Given the description of an element on the screen output the (x, y) to click on. 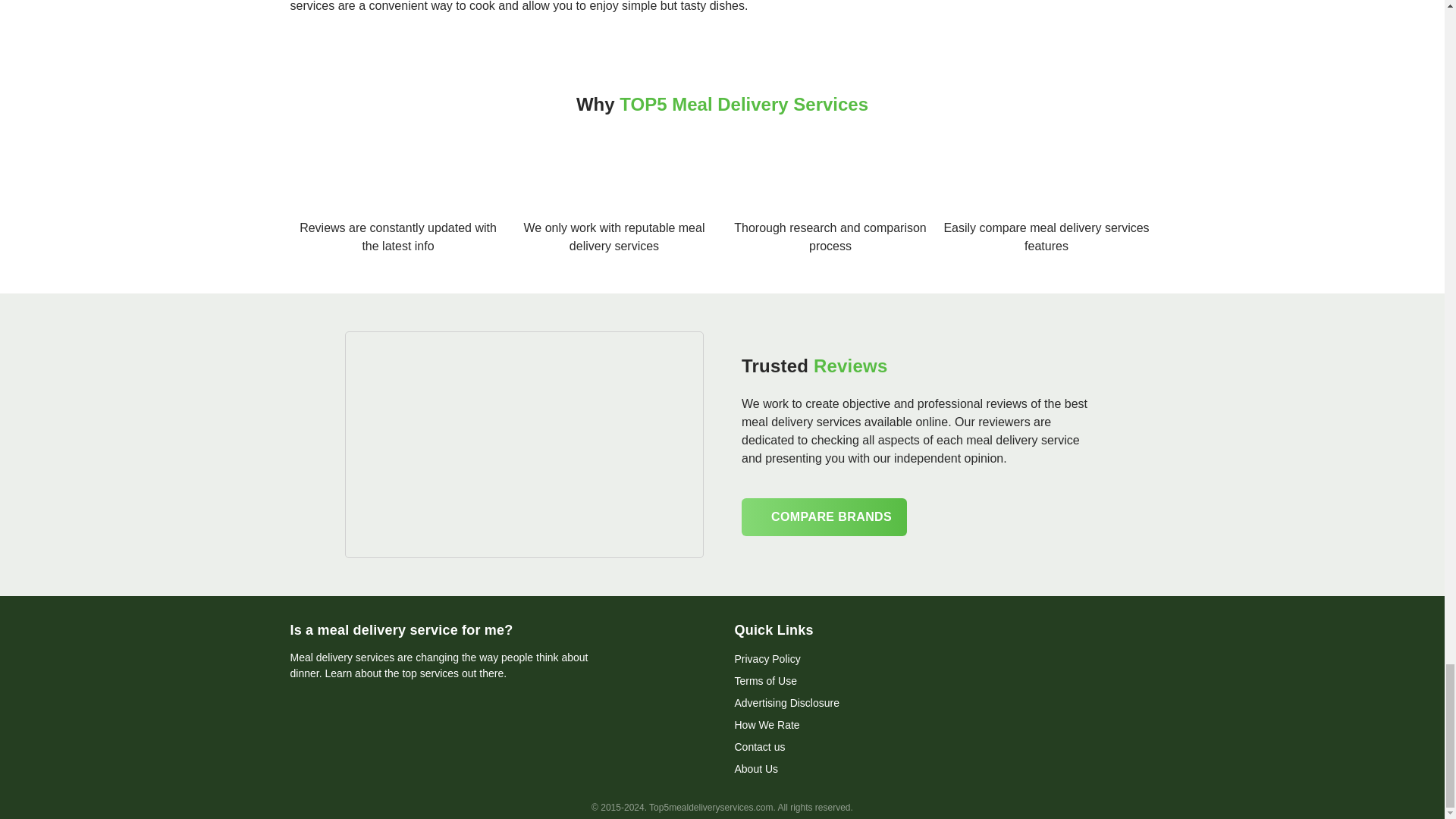
Advertising Disclosure (786, 702)
Contact us (758, 746)
About Us (755, 768)
image (524, 443)
Privacy Policy (766, 658)
How We Rate (766, 725)
Terms of Use (764, 680)
COMPARE BRANDS (824, 516)
